Given the description of an element on the screen output the (x, y) to click on. 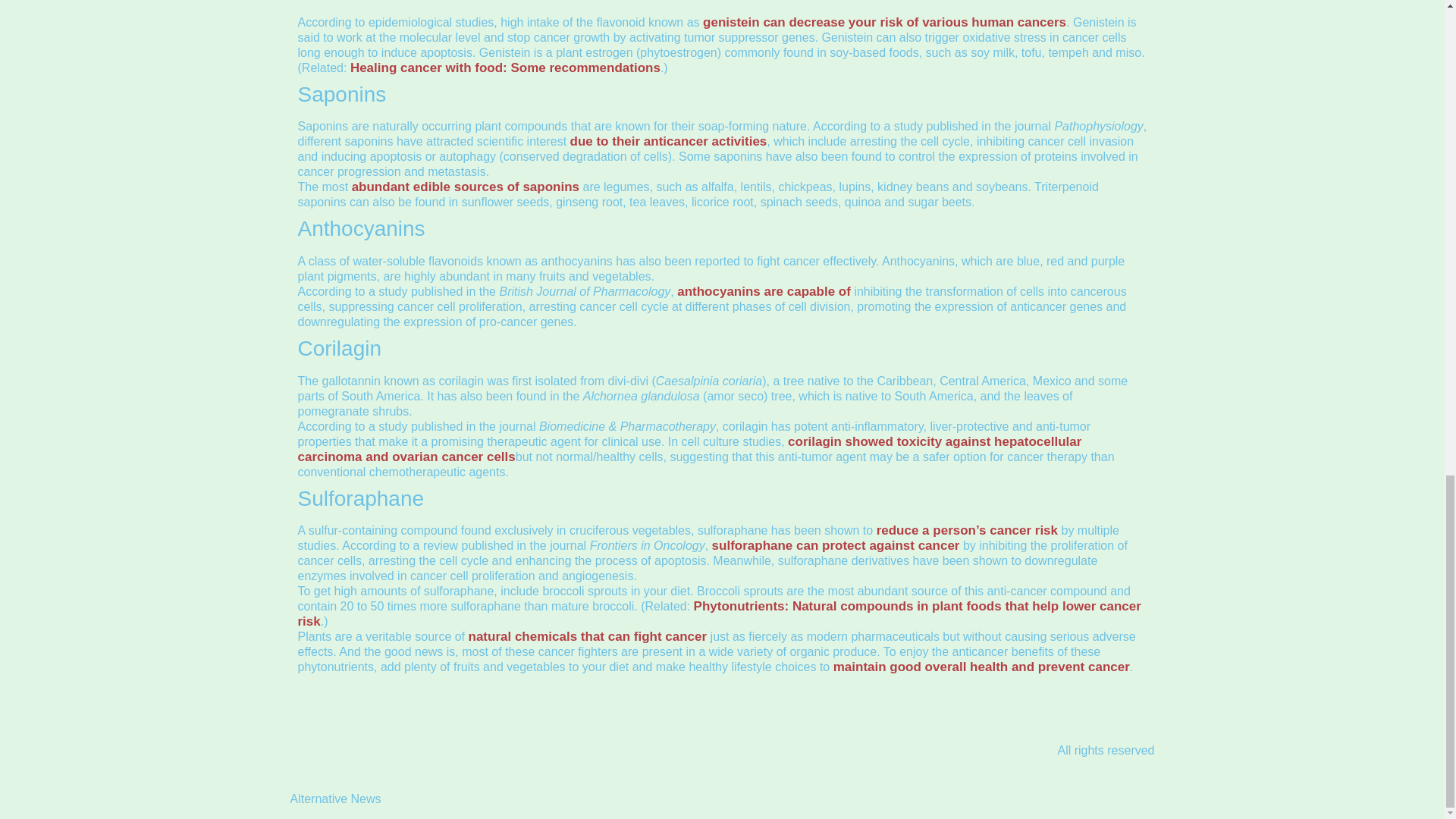
anthocyanins are capable of (763, 291)
maintain good overall health and prevent cancer (980, 667)
abundant edible sources of saponins (465, 186)
due to their anticancer activities (668, 141)
sulforaphane can protect against cancer (835, 545)
Healing cancer with food: Some recommendations (505, 67)
genistein can decrease your risk of various human cancers (884, 22)
natural chemicals that can fight cancer (587, 636)
